Given the description of an element on the screen output the (x, y) to click on. 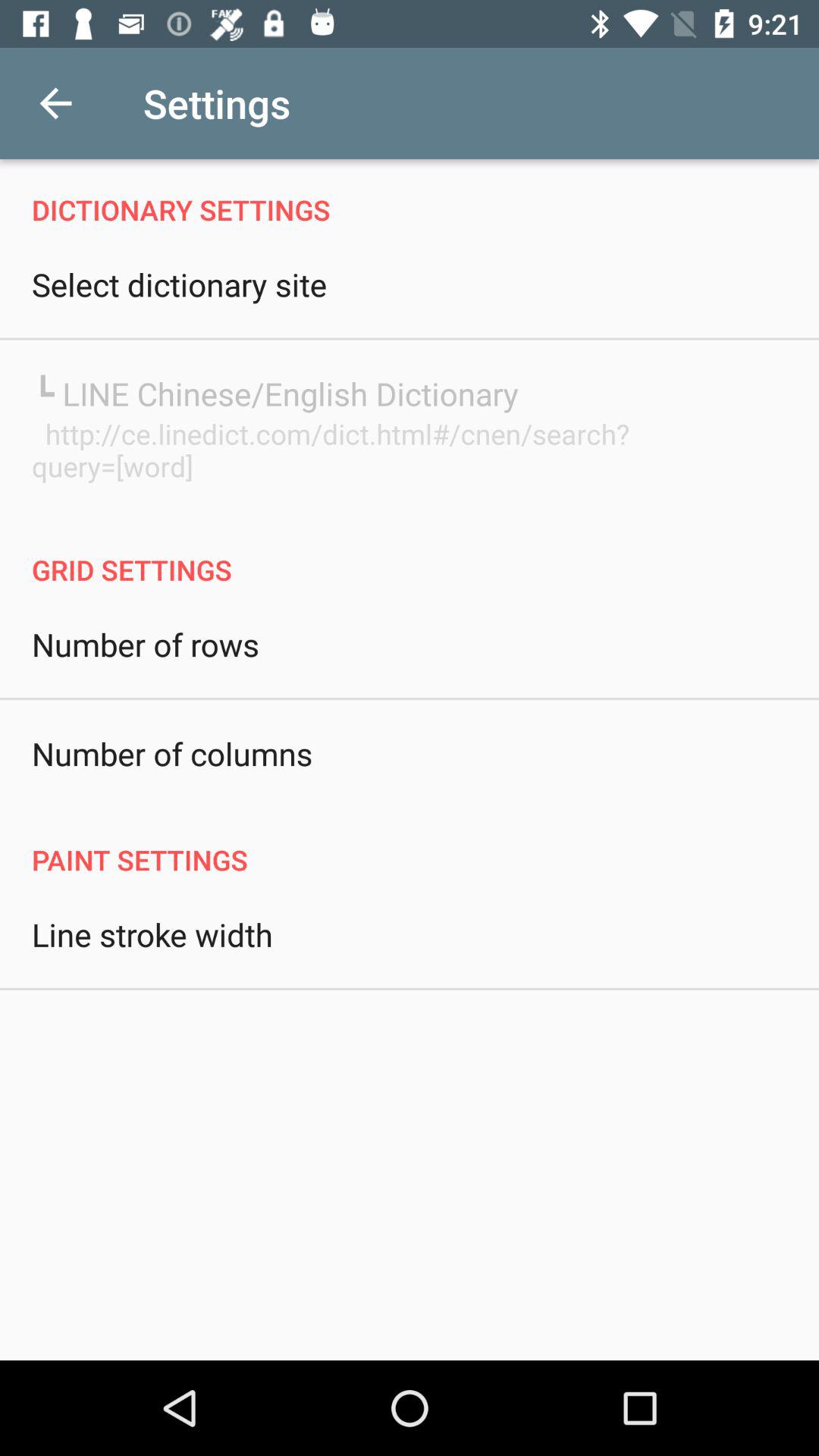
launch the icon below paint settings item (152, 934)
